Given the description of an element on the screen output the (x, y) to click on. 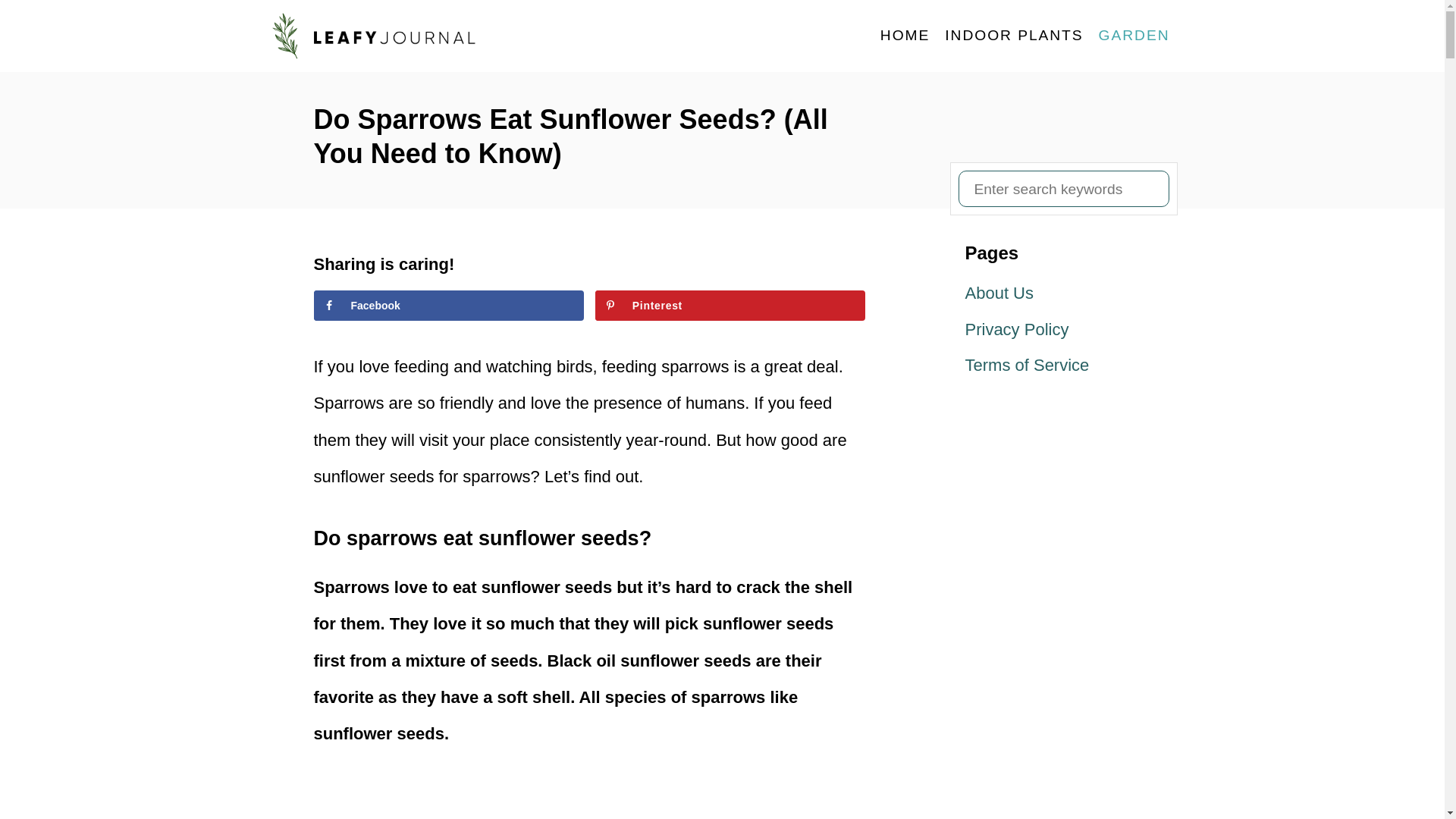
Save to Pinterest (730, 305)
INDOOR PLANTS (1013, 35)
HOME (904, 35)
Facebook (449, 305)
Share on Facebook (449, 305)
LeafyJournal (403, 36)
Pinterest (730, 305)
GARDEN (1133, 35)
